Given the description of an element on the screen output the (x, y) to click on. 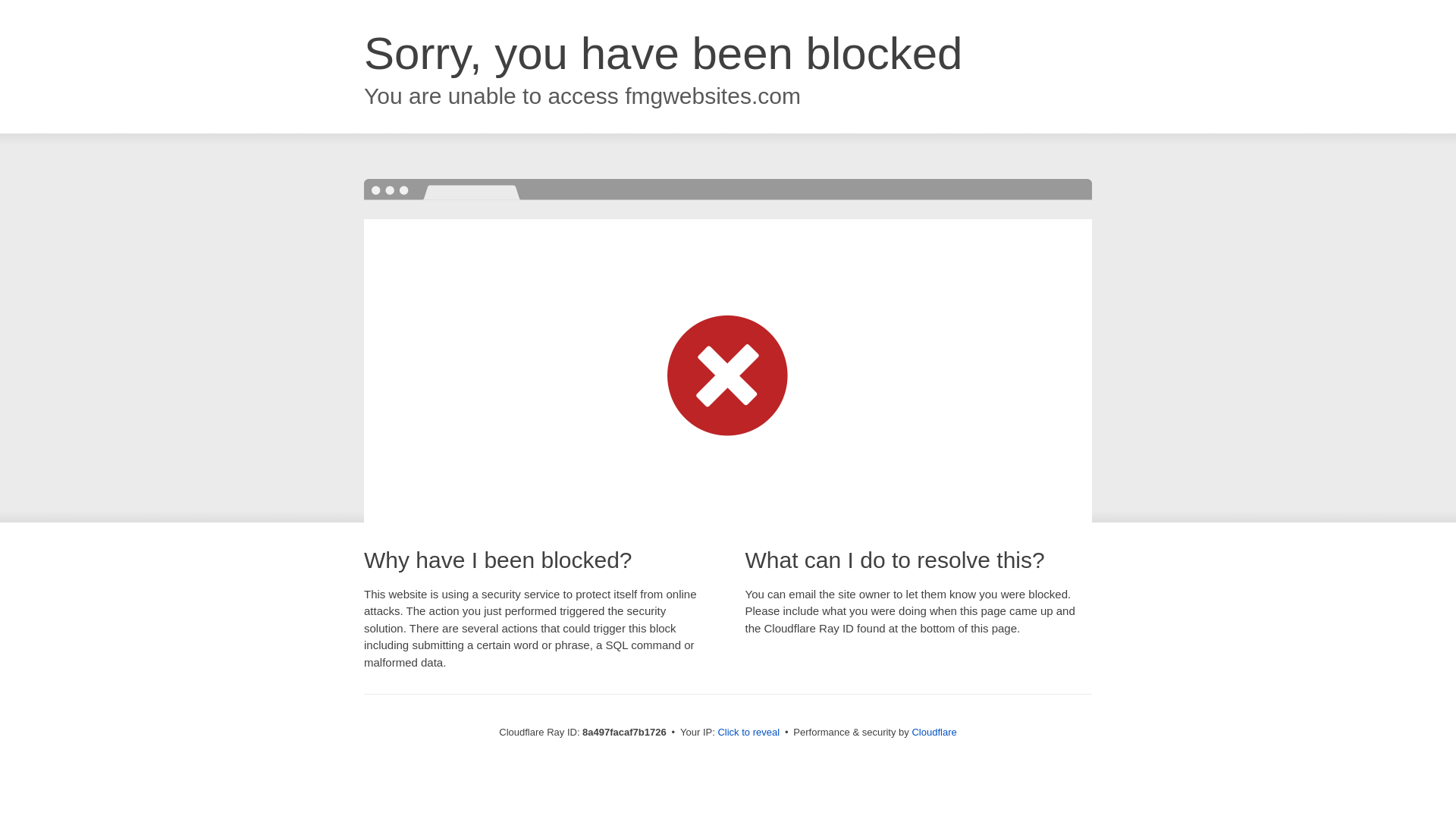
Click to reveal (747, 732)
Cloudflare (933, 731)
